Given the description of an element on the screen output the (x, y) to click on. 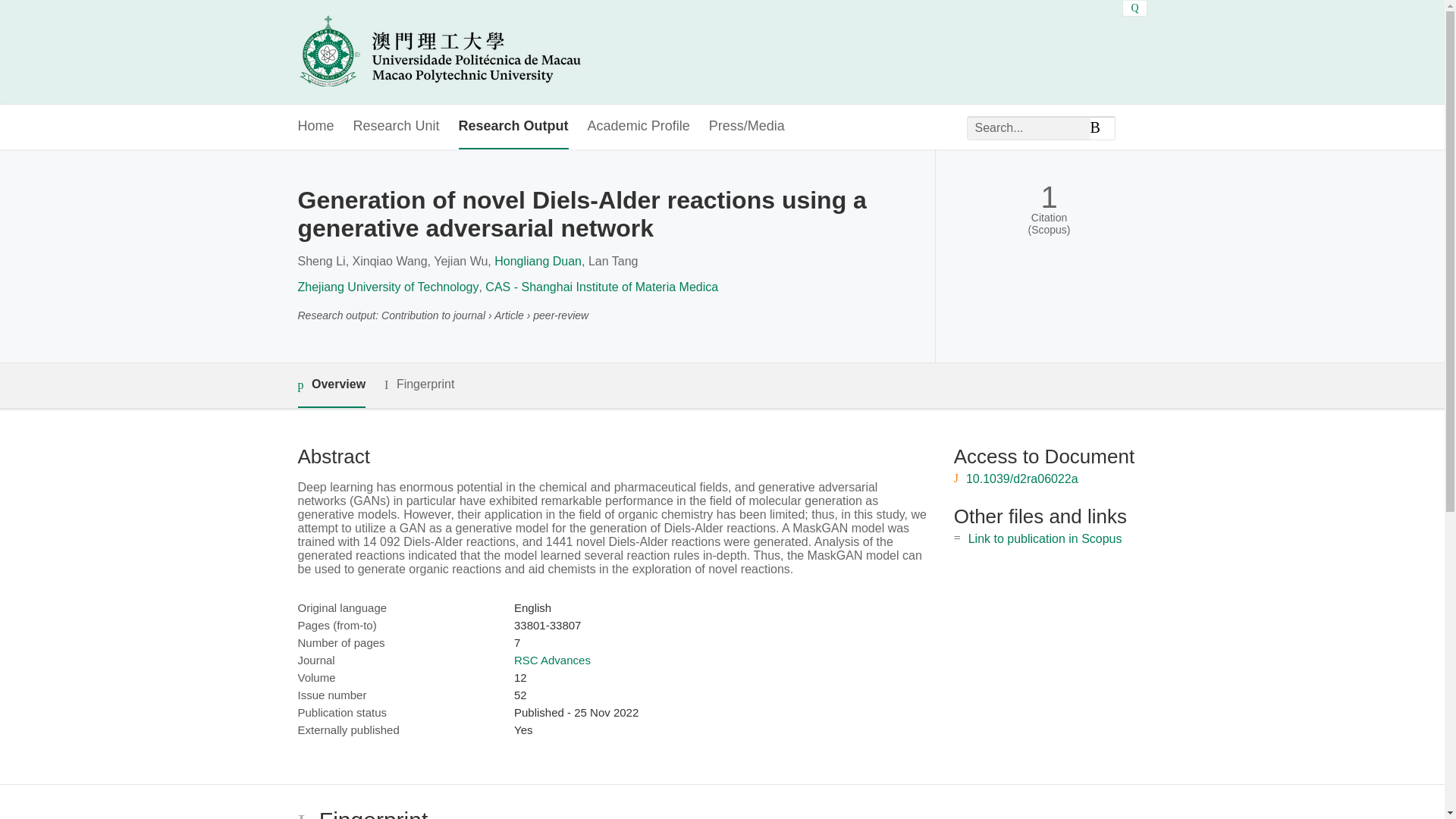
Research Output (513, 126)
Hongliang Duan (537, 260)
Fingerprint (419, 384)
CAS - Shanghai Institute of Materia Medica (600, 286)
Overview (331, 385)
Zhejiang University of Technology (388, 286)
Academic Profile (639, 126)
Link to publication in Scopus (1045, 538)
Macao Polytechnic University Home (438, 52)
